Given the description of an element on the screen output the (x, y) to click on. 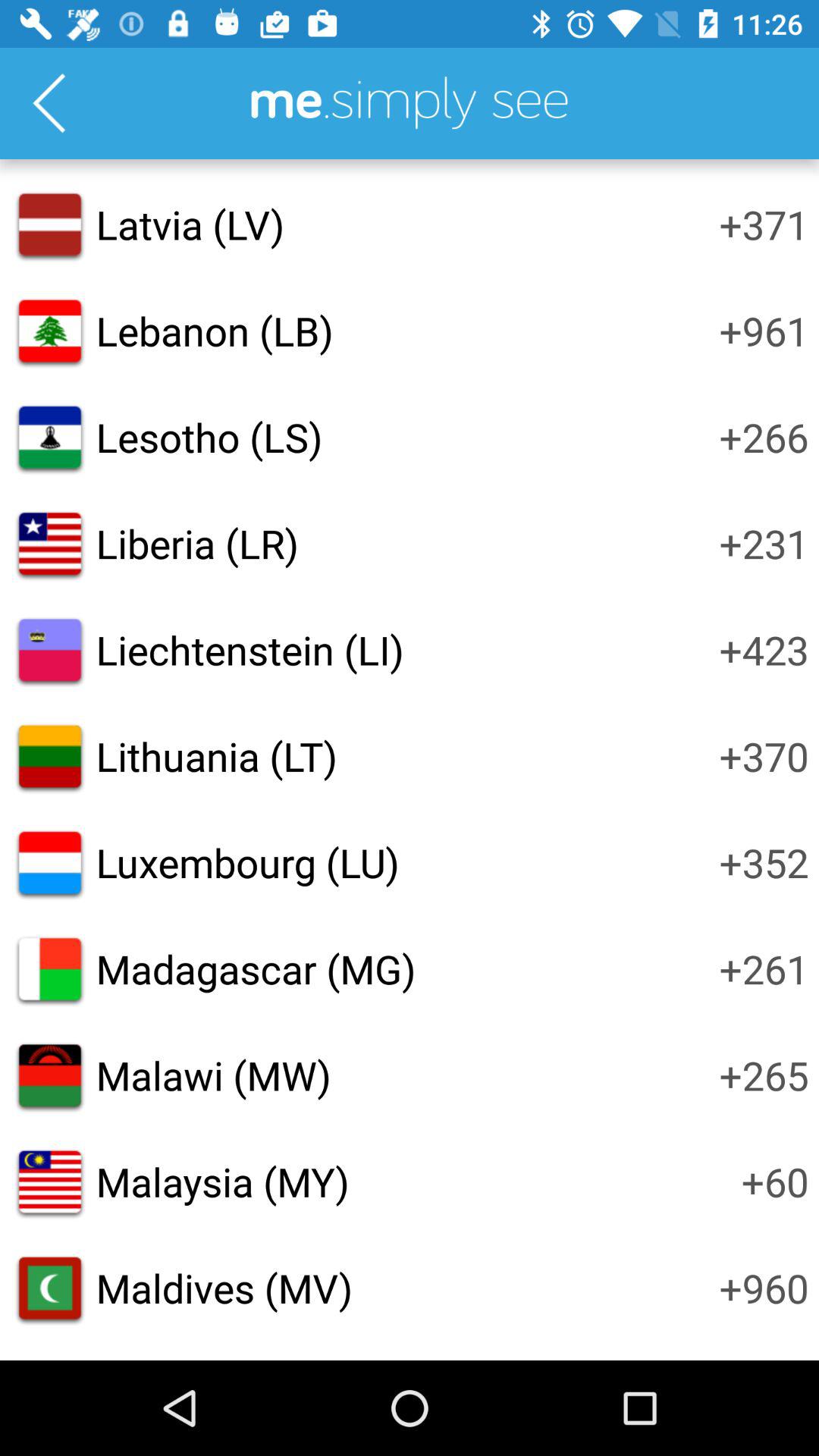
open icon to the right of the lesotho (ls) item (763, 436)
